Given the description of an element on the screen output the (x, y) to click on. 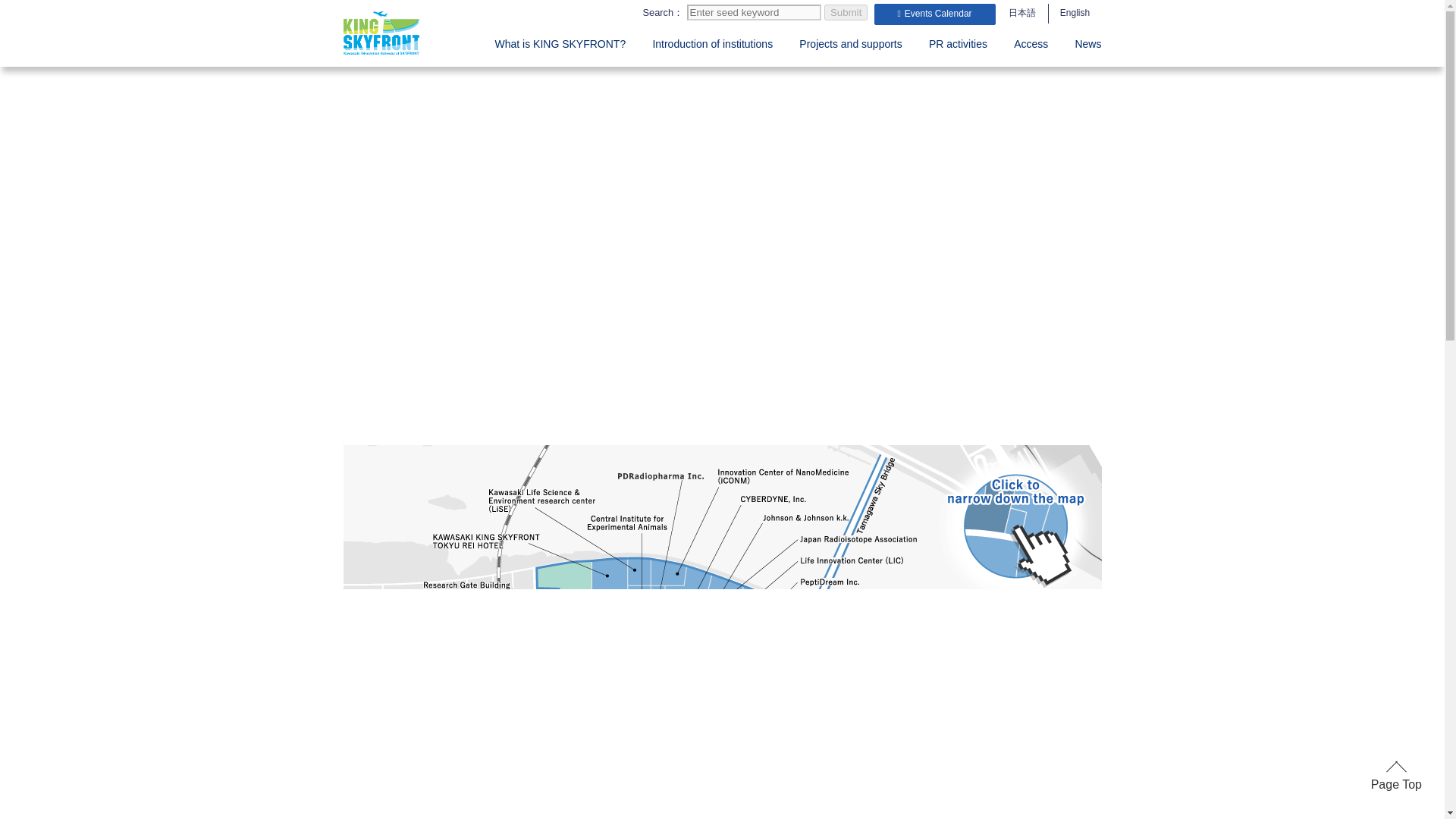
English (1074, 13)
Introduction of institutions (712, 44)
Projects and supports (850, 44)
Events Calendar (933, 14)
Submit (845, 12)
News (1087, 44)
Access (1030, 44)
PR activities (957, 44)
What is KING SKYFRONT? (560, 44)
